Given the description of an element on the screen output the (x, y) to click on. 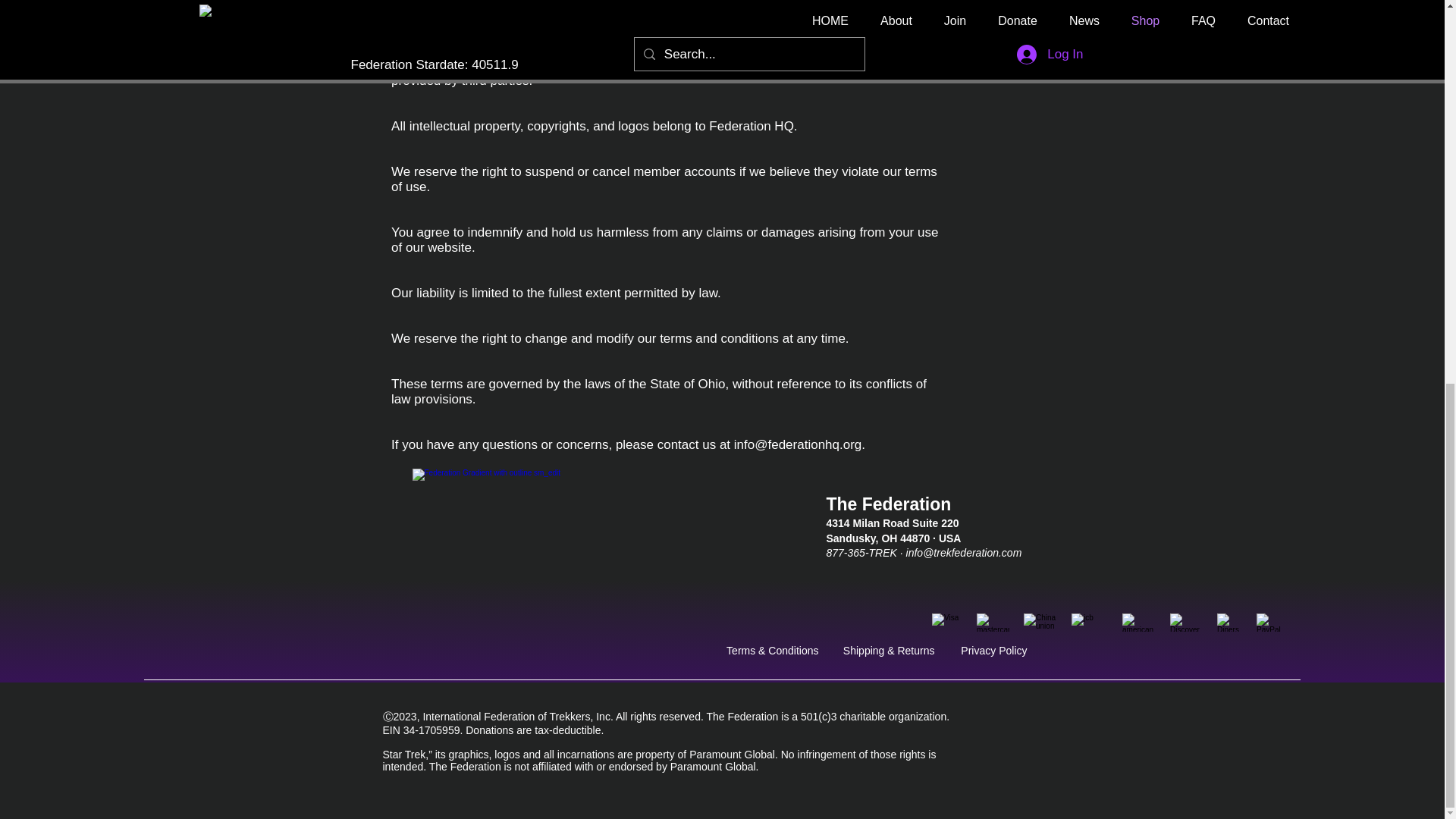
Privacy Policy (993, 650)
